Given the description of an element on the screen output the (x, y) to click on. 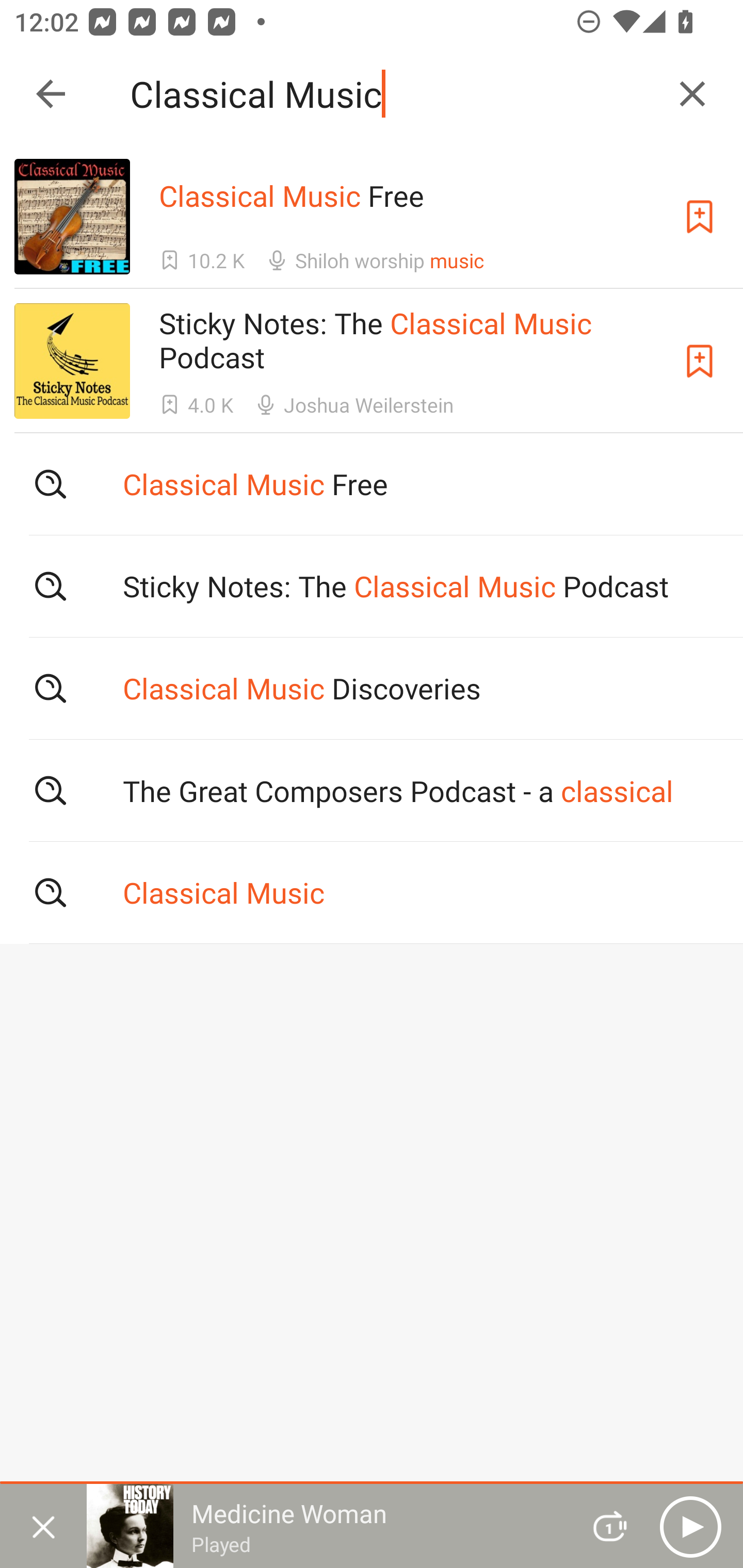
Collapse (50, 93)
Clear query (692, 93)
Classical Music (393, 94)
Subscribe (699, 216)
Subscribe (699, 360)
 Classical Music Free (371, 483)
 Sticky Notes: The Classical Music Podcast (371, 585)
 Classical Music Discoveries (371, 688)
 Classical Music (371, 892)
Medicine Woman Played (326, 1525)
Play (690, 1526)
